Given the description of an element on the screen output the (x, y) to click on. 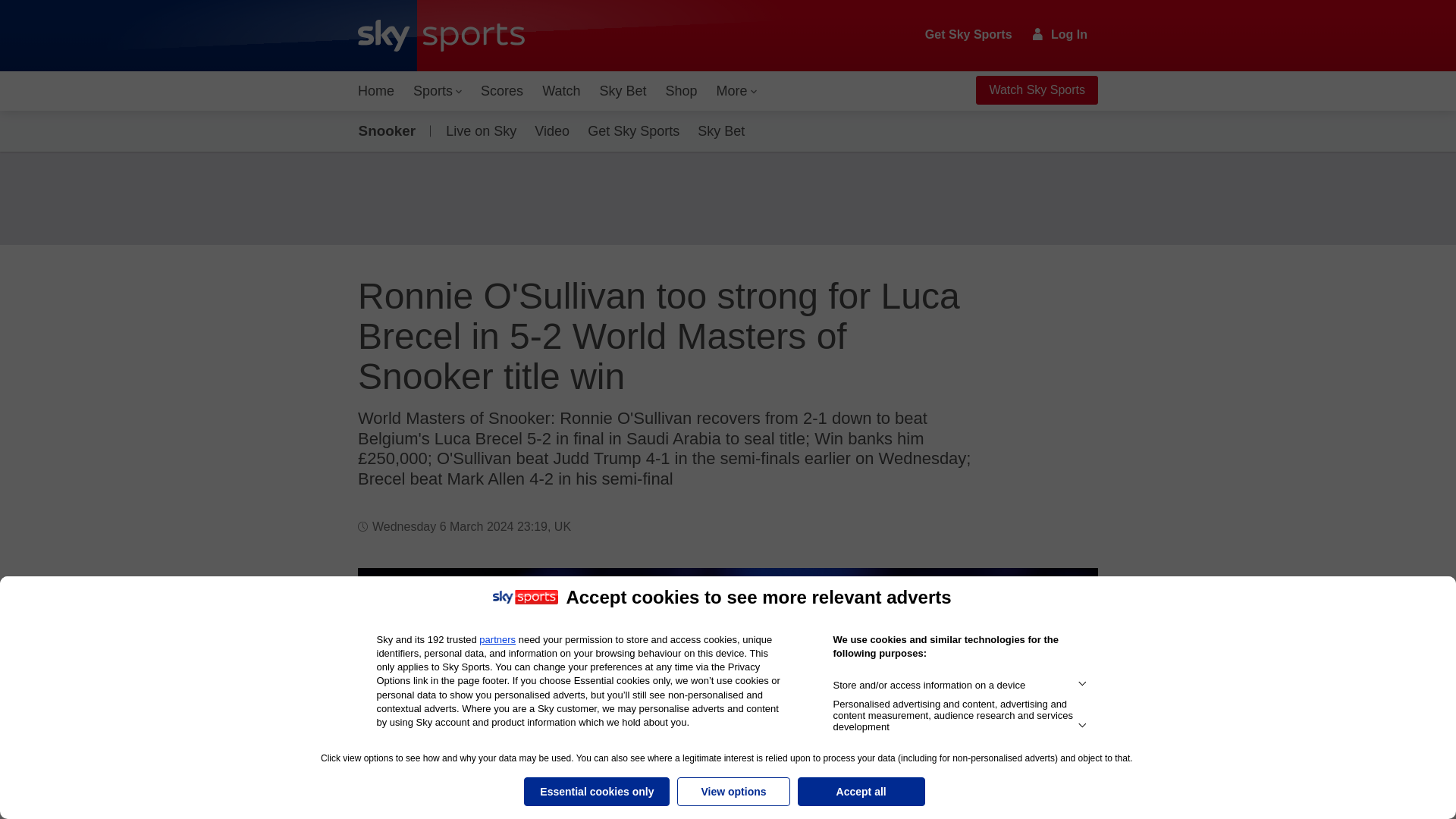
Get Sky Sports (968, 34)
Sports (437, 91)
Live on Sky (477, 130)
Snooker (389, 130)
Watch Sky Sports (1036, 90)
Log In (1060, 33)
Watch (561, 91)
Shop (681, 91)
More (736, 91)
Sky Bet (622, 91)
Scores (502, 91)
Home (375, 91)
